Given the description of an element on the screen output the (x, y) to click on. 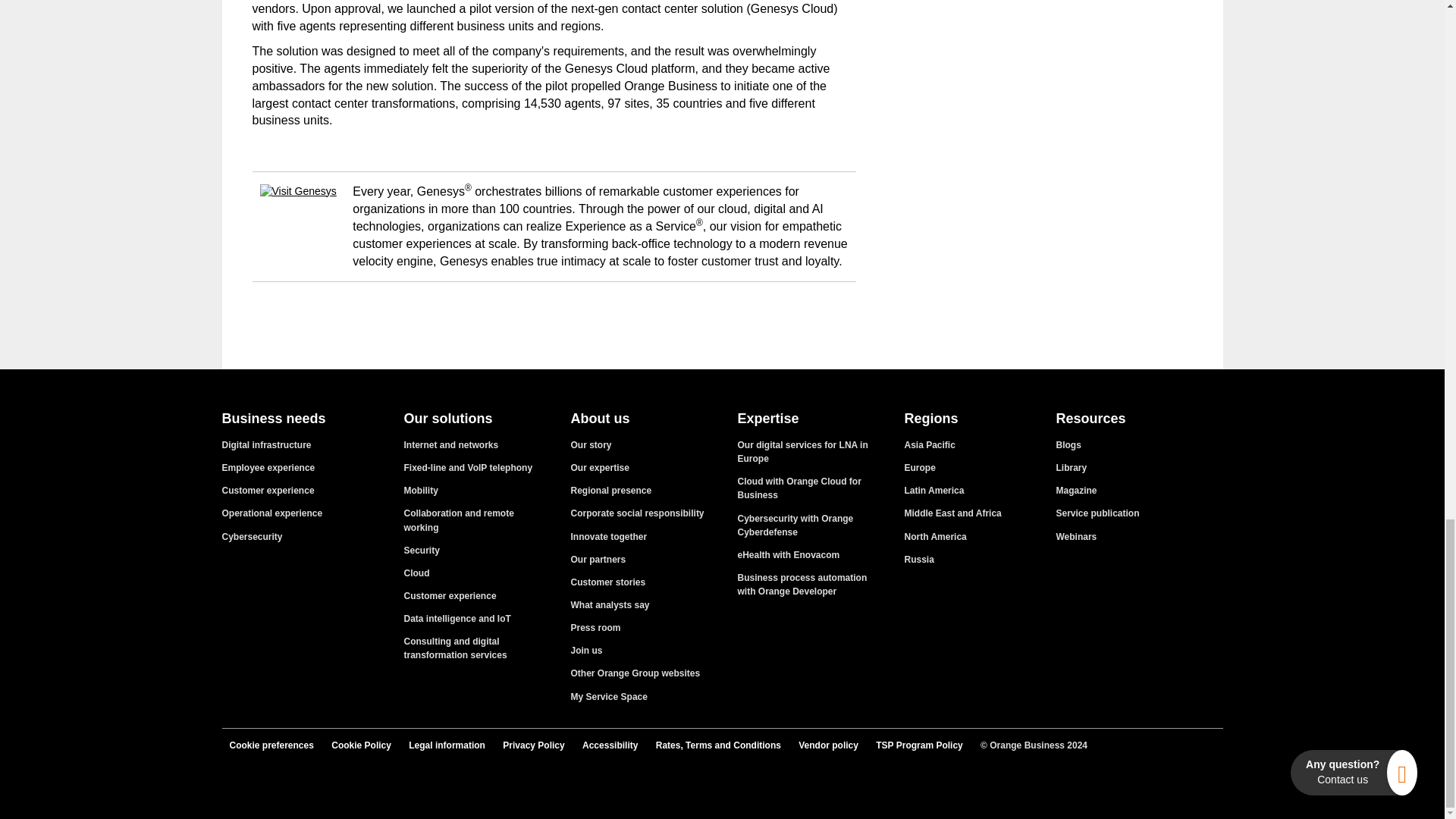
Corporate (590, 444)
Careers (586, 650)
Press room (595, 627)
Our local offices (610, 490)
What analysts say (609, 604)
